Given the description of an element on the screen output the (x, y) to click on. 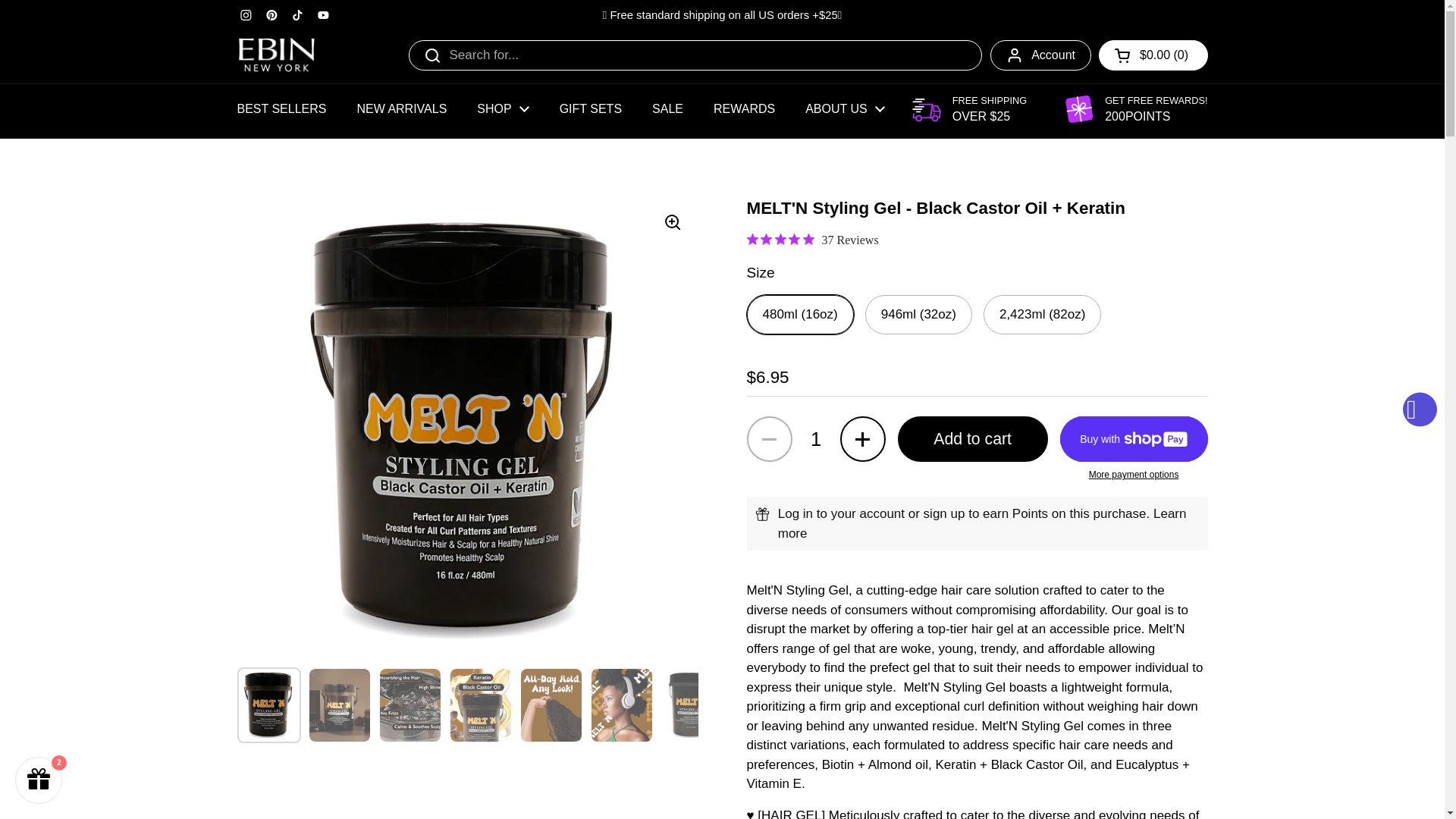
37 Reviews (811, 240)
SHOP (502, 108)
Pinterest (271, 14)
Account (1040, 54)
BEST SELLERS (280, 108)
SHOP (502, 108)
YouTube (322, 14)
NEW ARRIVALS (400, 108)
BEST SELLERS (280, 108)
EBIN NEW YORK (275, 54)
Instagram (244, 14)
TikTok (296, 14)
1 (815, 438)
Open cart (1153, 54)
